Given the description of an element on the screen output the (x, y) to click on. 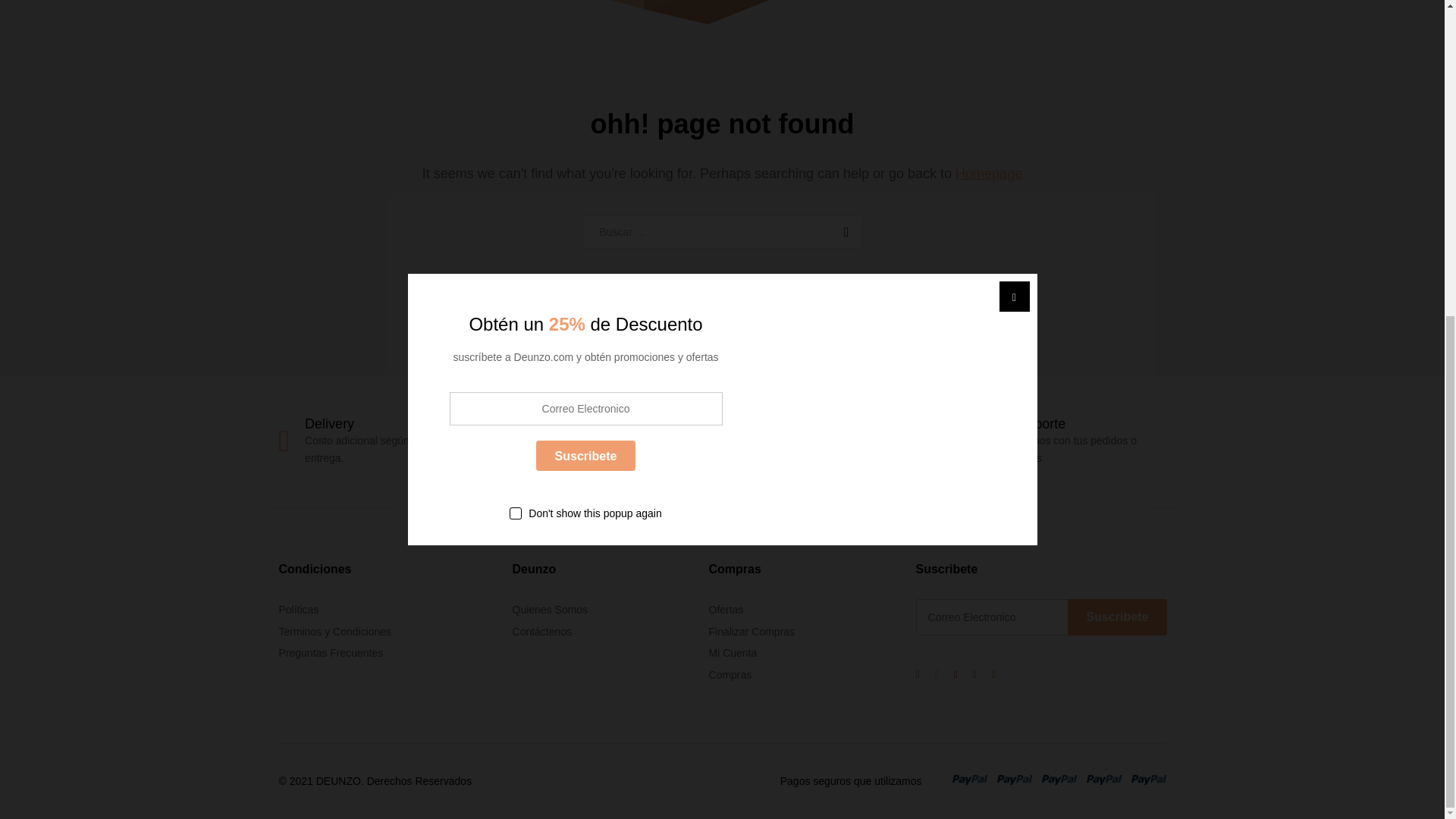
Buscar (843, 232)
Facebook (917, 673)
Google Plus (955, 673)
Buscar (843, 232)
Instagram (993, 673)
Twitter (936, 673)
Suscribete (1117, 616)
Youtube (974, 673)
